Given the description of an element on the screen output the (x, y) to click on. 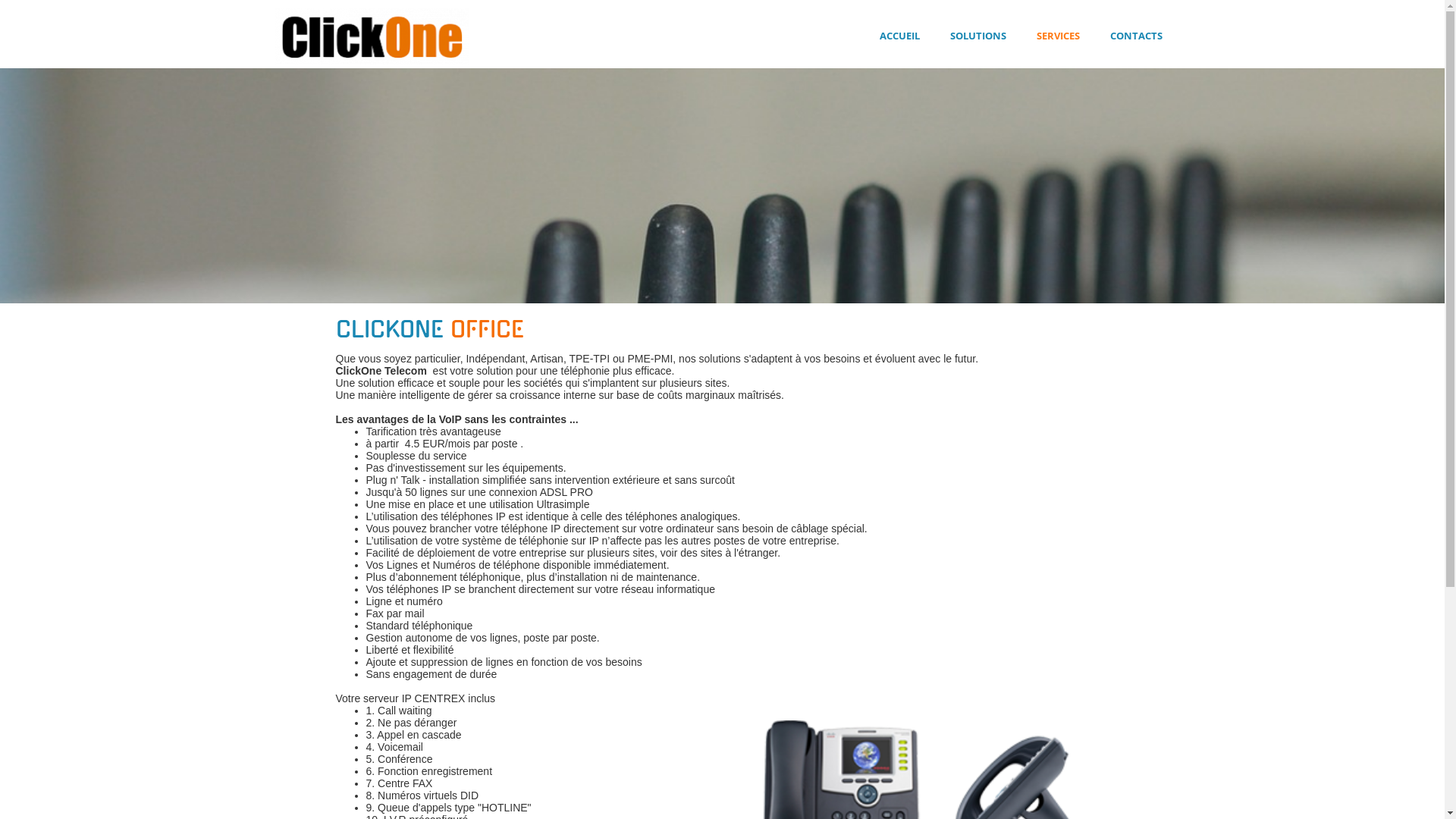
CONTACTS Element type: text (1136, 35)
SERVICES Element type: text (1057, 35)
SOLUTIONS Element type: text (977, 35)
ACCUEIL Element type: text (899, 35)
